Given the description of an element on the screen output the (x, y) to click on. 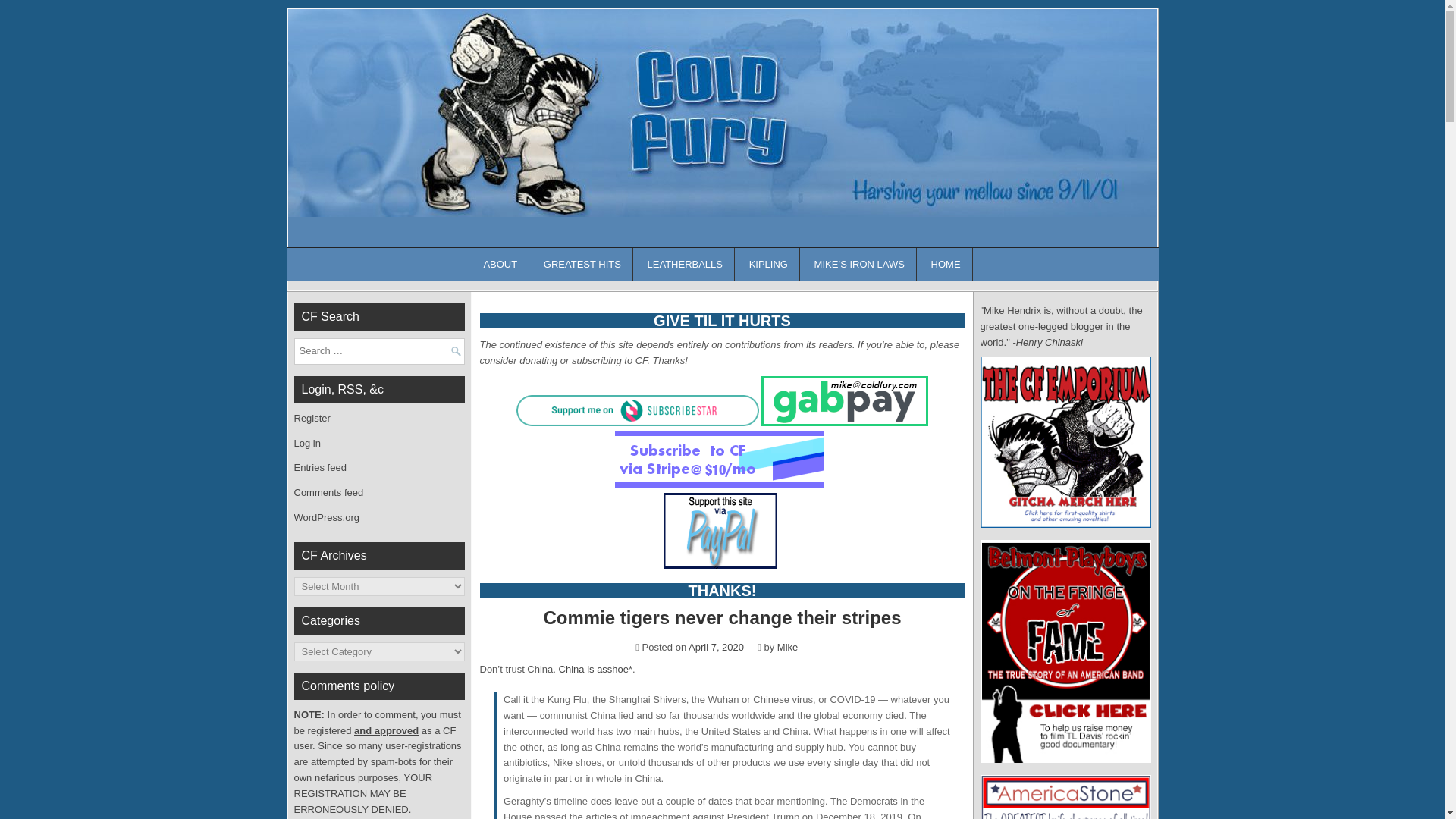
Type and hit enter (379, 351)
ABOUT (500, 264)
GREATEST HITS (582, 264)
LEATHERBALLS (685, 264)
One lab accident among many (593, 668)
